Given the description of an element on the screen output the (x, y) to click on. 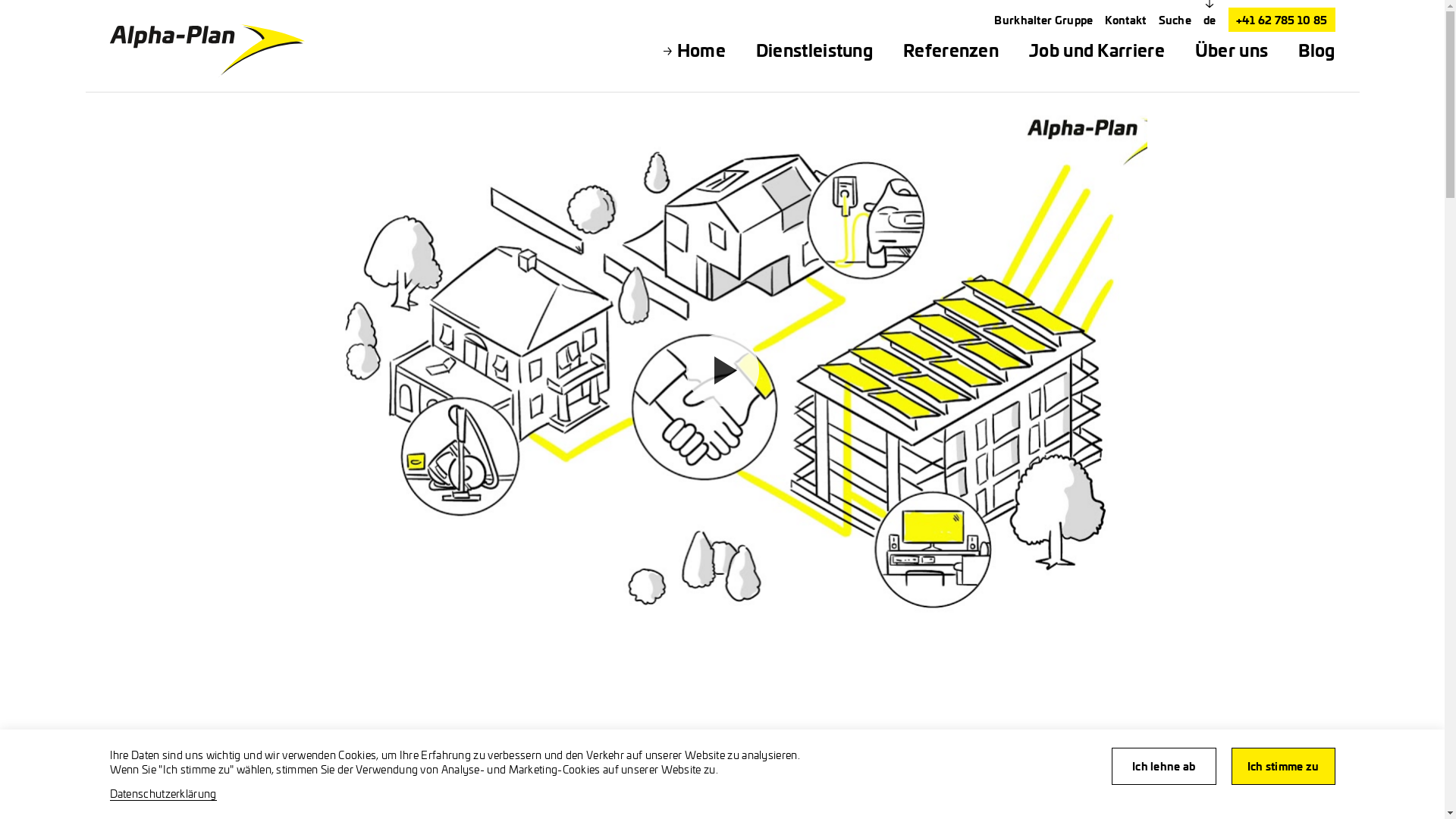
Ich lehne ab Element type: text (1163, 765)
+41 62 785 10 85 Element type: text (1281, 19)
Burkhalter Gruppe Element type: text (1043, 20)
Home Element type: text (701, 49)
Blog Element type: text (1316, 49)
de Element type: text (1209, 20)
Ich stimme zu Element type: text (1283, 765)
Kontakt Element type: text (1124, 20)
Suche Element type: text (1175, 20)
Job und Karriere Element type: text (1096, 49)
Dienstleistung Element type: text (814, 49)
Referenzen Element type: text (950, 49)
